Given the description of an element on the screen output the (x, y) to click on. 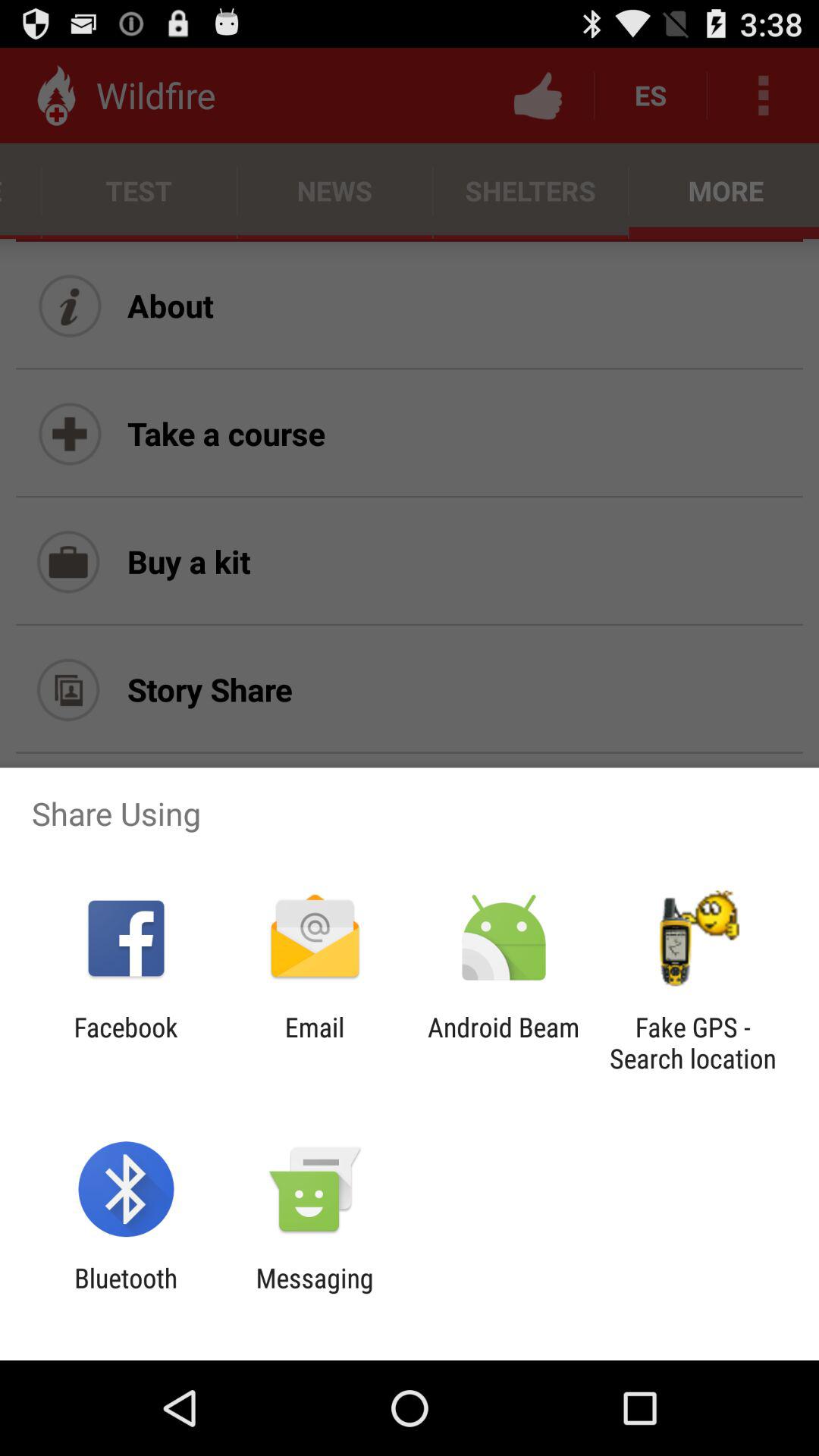
flip to the email app (314, 1042)
